Given the description of an element on the screen output the (x, y) to click on. 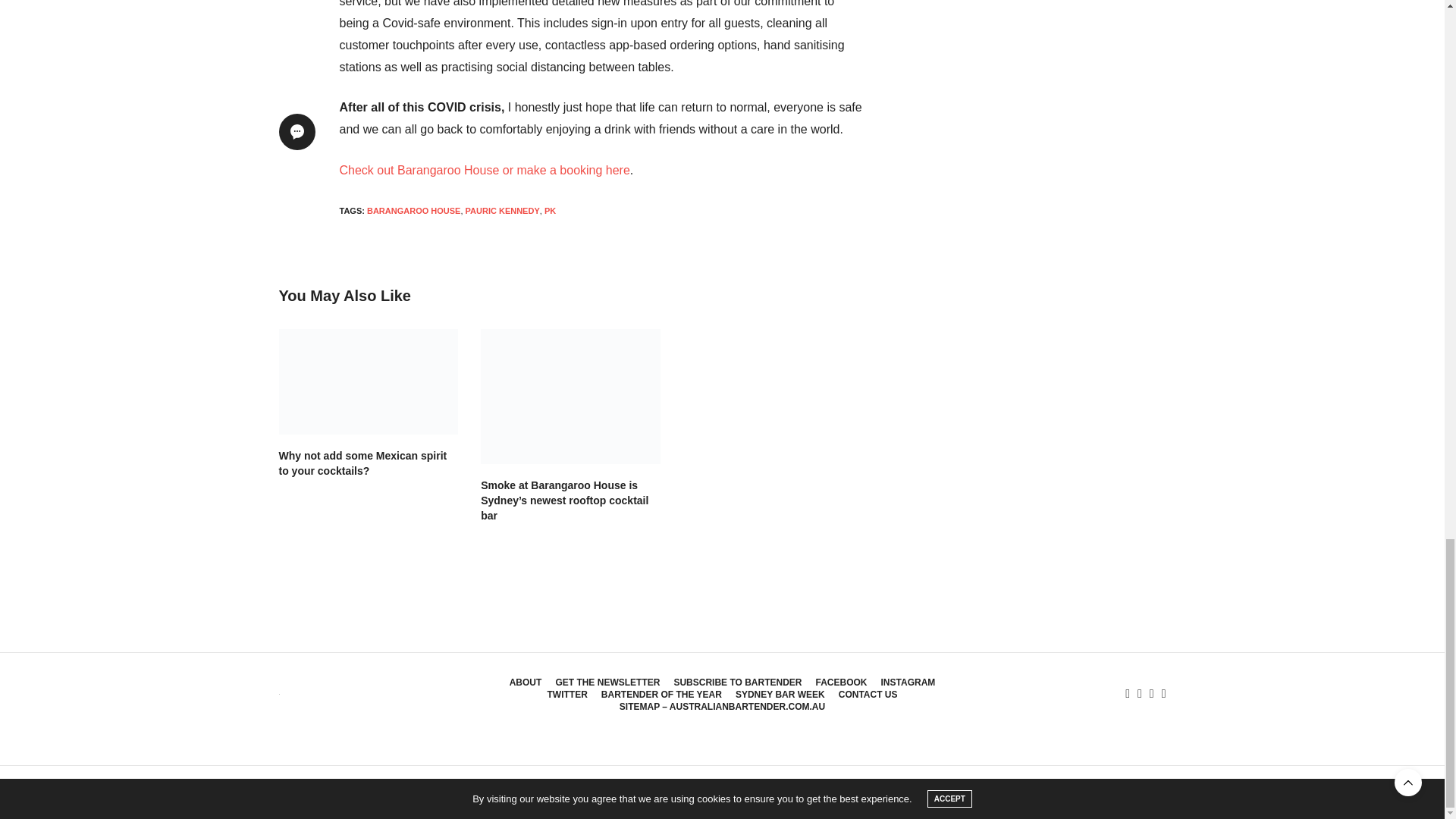
Why not add some Mexican spirit to your cocktails? (368, 381)
Why not add some Mexican spirit to your cocktails? (362, 462)
